Given the description of an element on the screen output the (x, y) to click on. 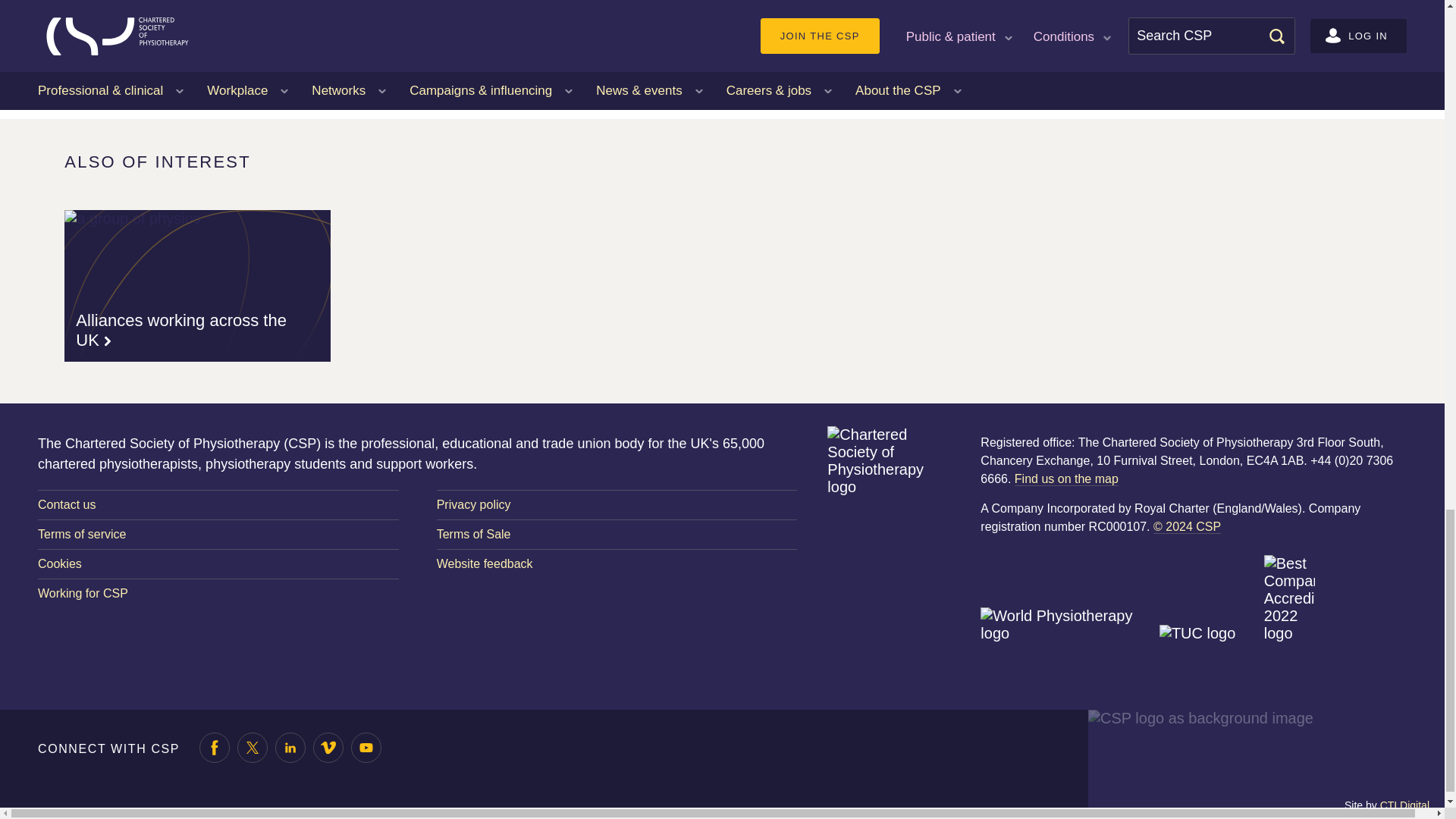
The CSP-wide privacy policy (616, 504)
Webform for contacting the CSP. (217, 504)
